Given the description of an element on the screen output the (x, y) to click on. 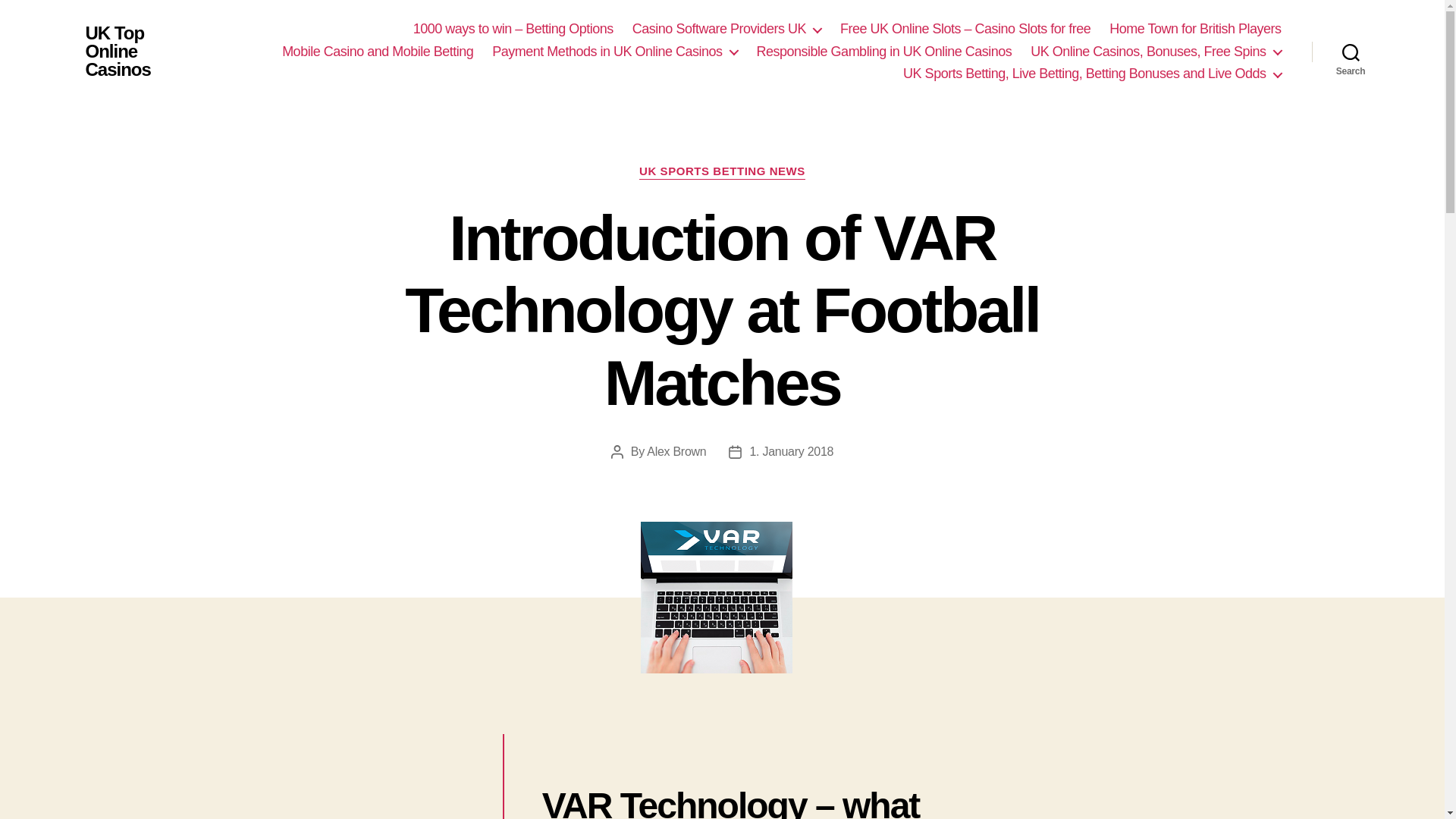
UK Top Online Casinos (129, 51)
Mobile Casino and Mobile Betting (377, 52)
Responsible Gambling in UK Online Casinos (884, 52)
UK Online Casinos, Bonuses, Free Spins (1155, 52)
Payment Methods in UK Online Casinos (614, 52)
Home Town for British Players (1195, 29)
Casino Software Providers UK (726, 29)
